Given the description of an element on the screen output the (x, y) to click on. 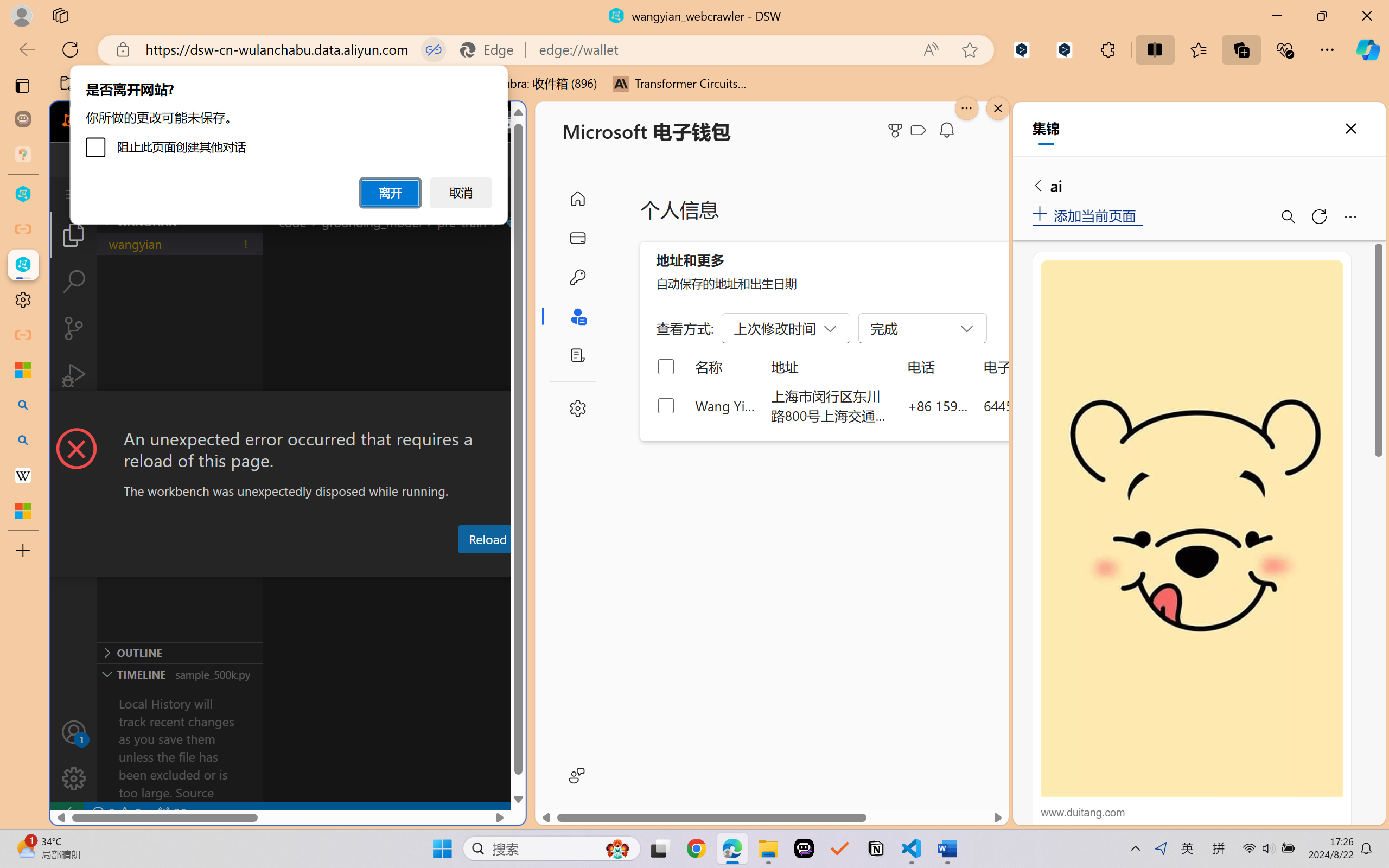
Google Chrome (696, 848)
